Given the description of an element on the screen output the (x, y) to click on. 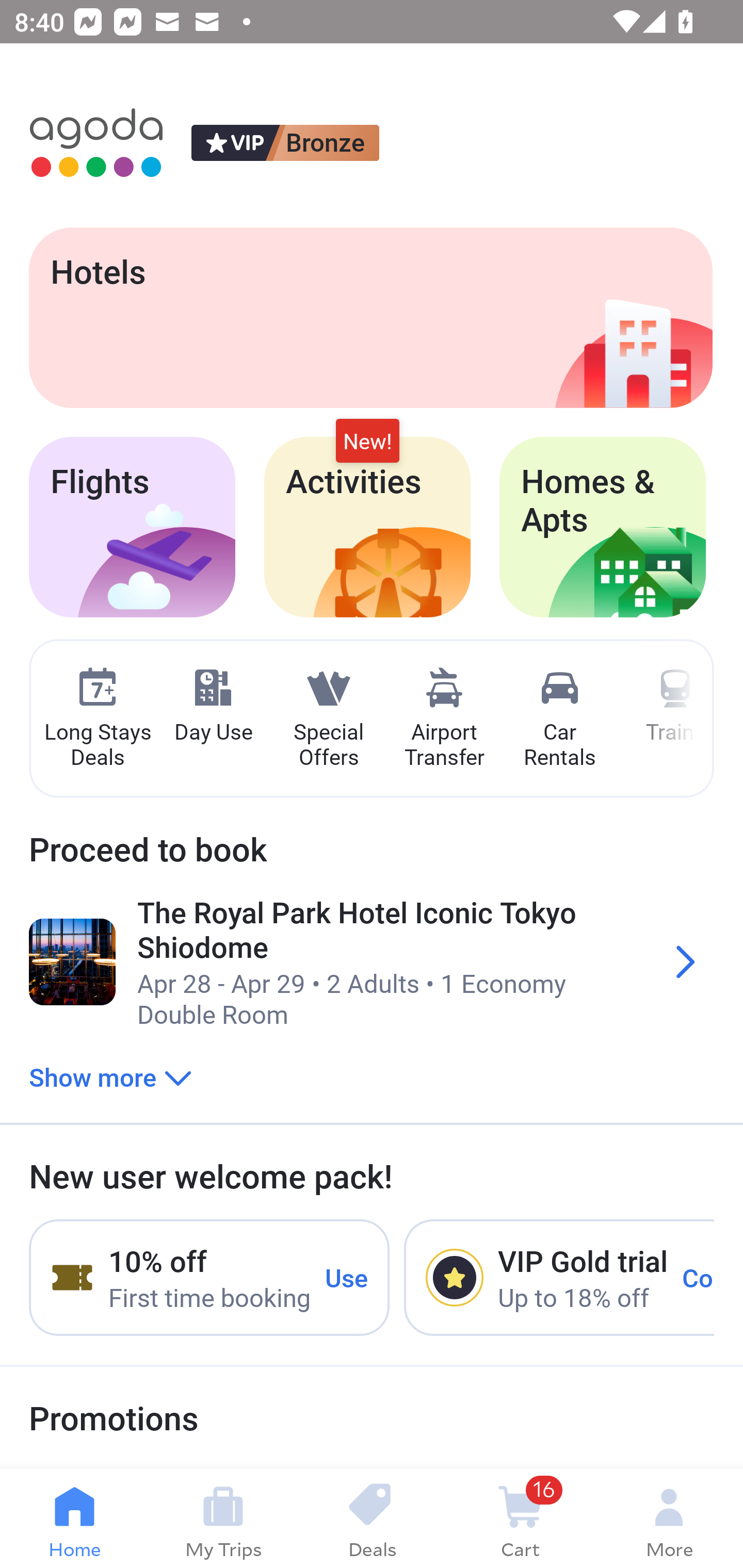
Hotels (370, 317)
New! (367, 441)
Flights (131, 527)
Activities (367, 527)
Homes & Apts (602, 527)
Day Use (213, 706)
Long Stays Deals (97, 718)
Special Offers (328, 718)
Airport Transfer (444, 718)
Car Rentals (559, 718)
Show more (110, 1076)
Use (346, 1277)
Home (74, 1518)
My Trips (222, 1518)
Deals (371, 1518)
16 Cart (519, 1518)
More (668, 1518)
